Given the description of an element on the screen output the (x, y) to click on. 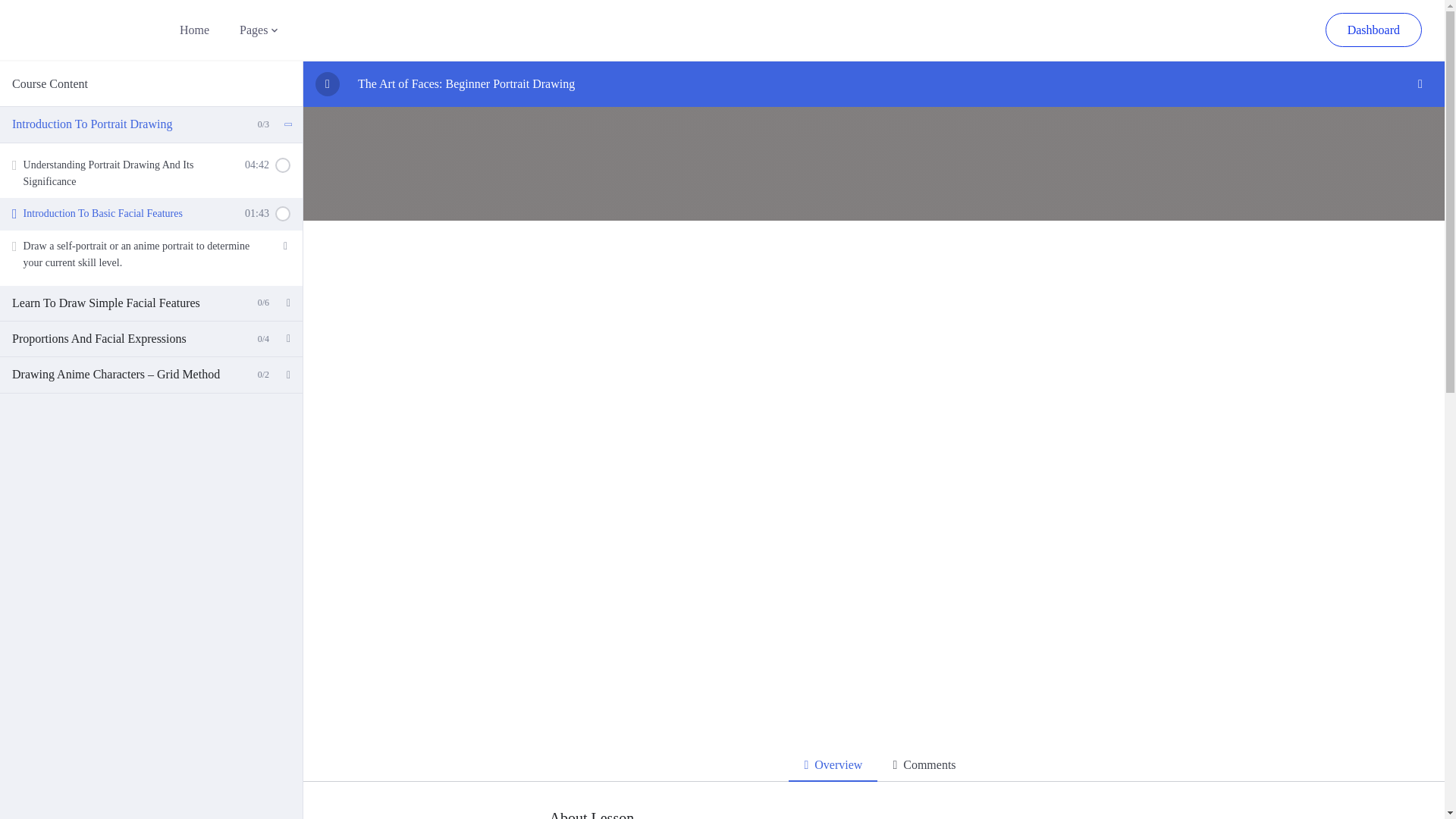
Pages (252, 29)
Comments (924, 765)
on (282, 213)
Dashboard (151, 214)
Home (1373, 29)
Overview (194, 29)
on (833, 765)
